Given the description of an element on the screen output the (x, y) to click on. 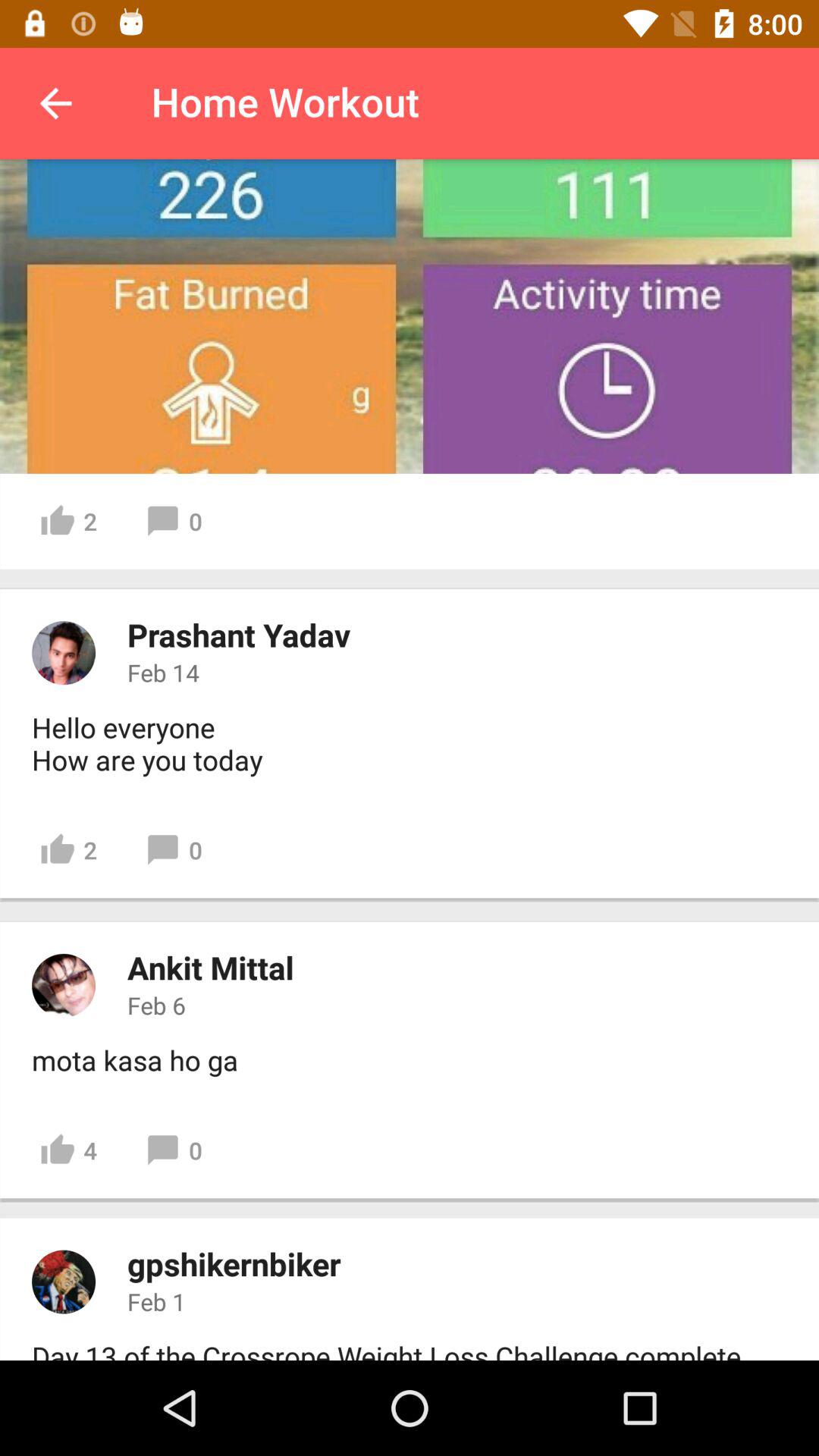
tap the item below the 2 item (210, 967)
